Given the description of an element on the screen output the (x, y) to click on. 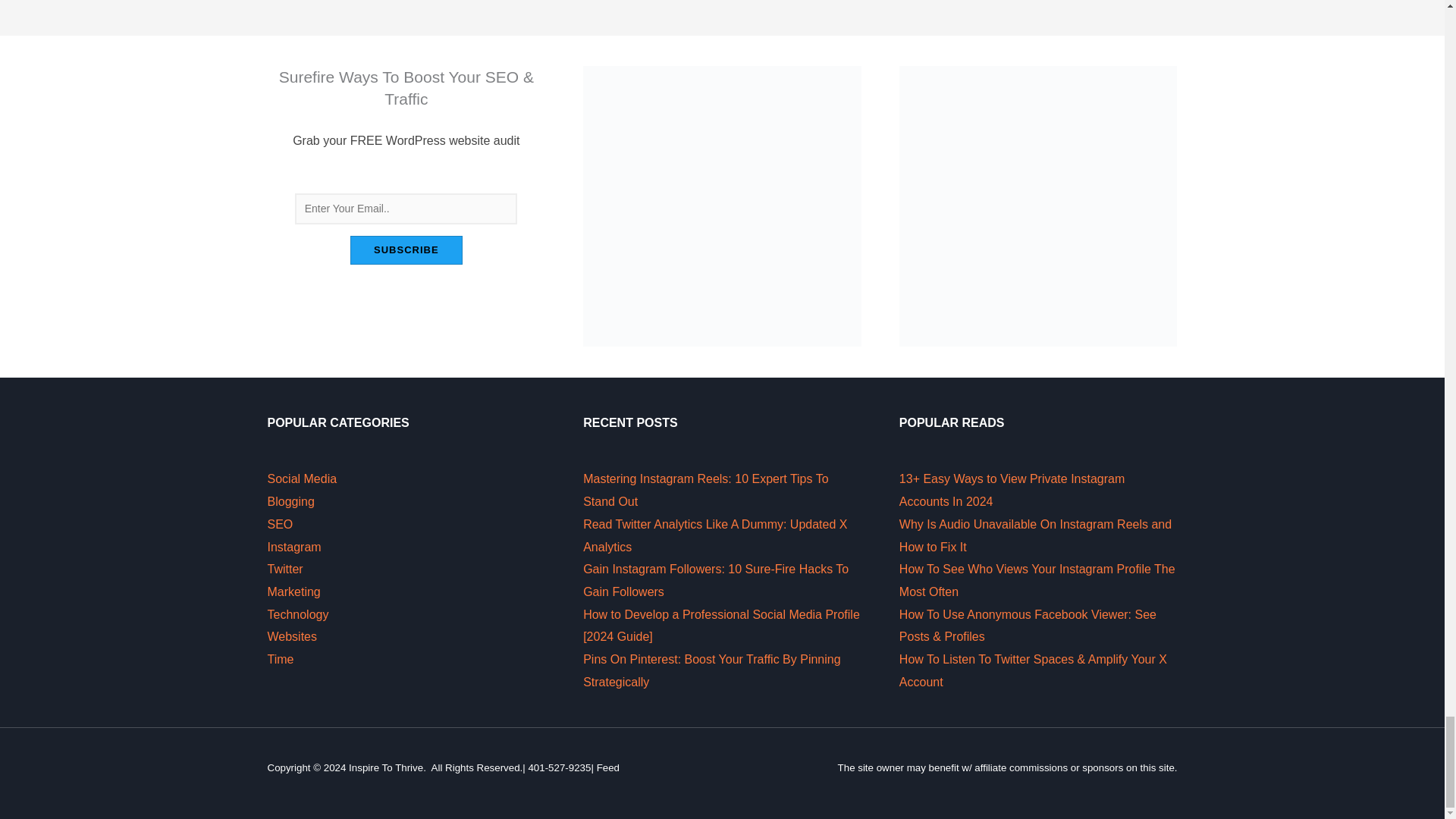
Subscribe (406, 249)
